Given the description of an element on the screen output the (x, y) to click on. 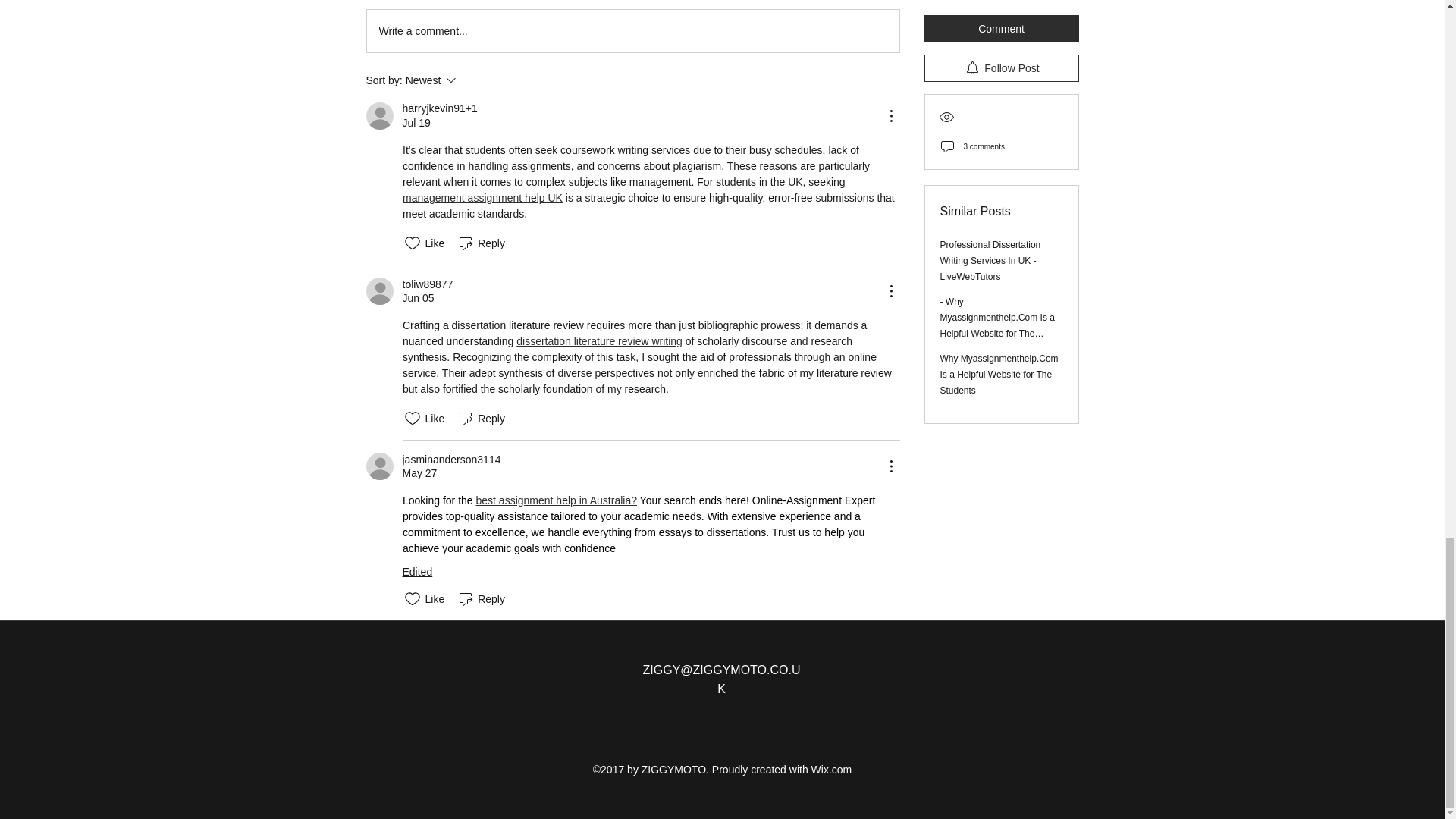
jasminanderson3114 (450, 459)
dissertation literature review writing (471, 80)
Reply (599, 340)
toliw89877 (481, 418)
Write a comment... (426, 284)
Reply (632, 30)
management assignment help UK (481, 243)
